Given the description of an element on the screen output the (x, y) to click on. 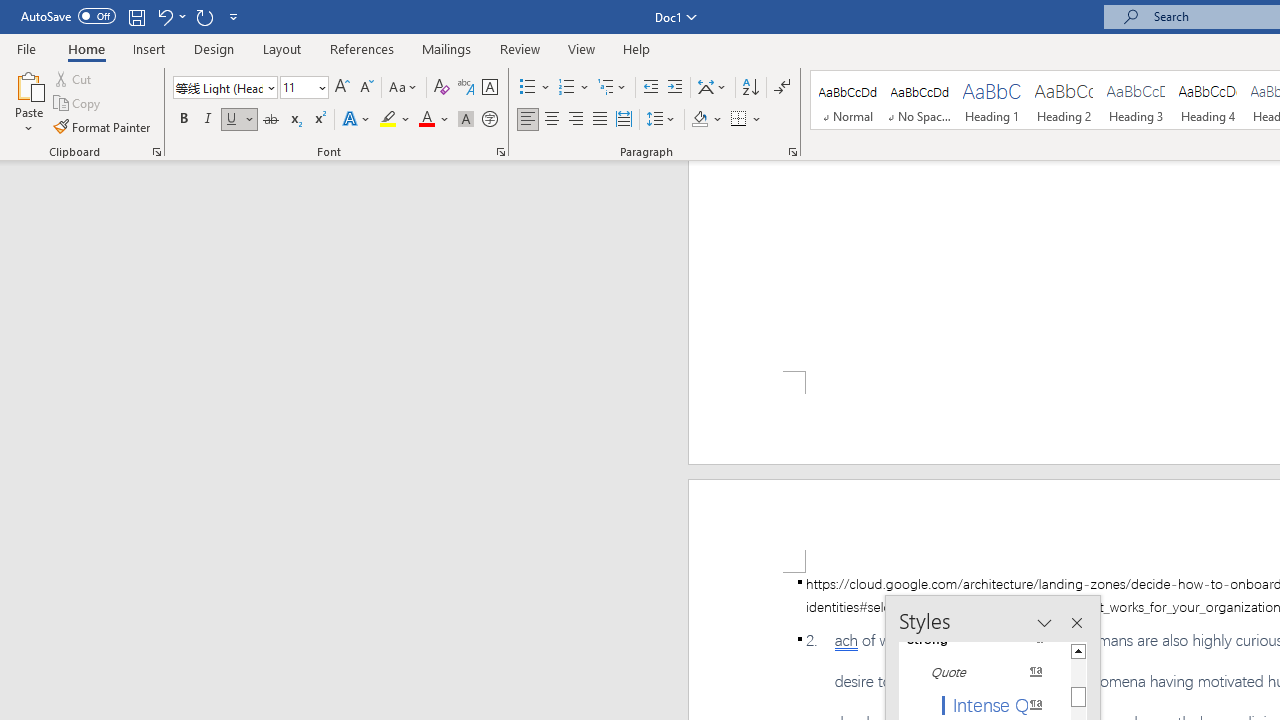
Multilevel List (613, 87)
Subscript (294, 119)
Shrink Font (365, 87)
Phonetic Guide... (465, 87)
Strikethrough (270, 119)
Shading (706, 119)
Format Painter (103, 126)
